Given the description of an element on the screen output the (x, y) to click on. 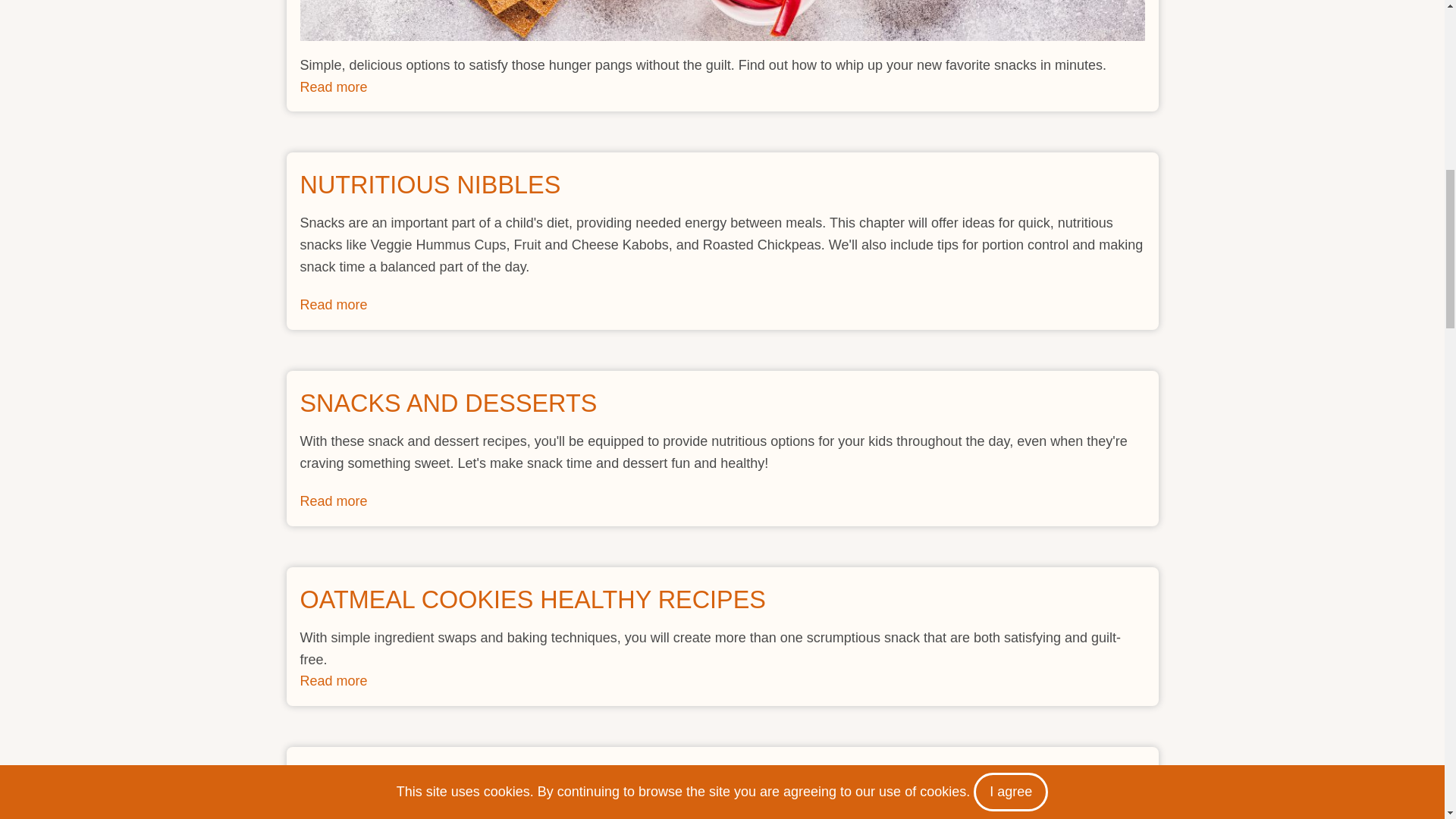
Quick and easy snacks that are healthy  (333, 87)
healthy snacks for a family (333, 87)
Snacks and desserts (721, 20)
OATMEAL COOKIES HEALTHY RECIPES (333, 304)
Nutritious nibbles (333, 500)
BEST HEALTHY SNACKS FOR KINDERGARTNERS (532, 599)
SNACKS AND DESSERTS (333, 304)
NUTRITIOUS NIBBLES (333, 680)
Oatmeal cookies healthy recipes (591, 779)
